Given the description of an element on the screen output the (x, y) to click on. 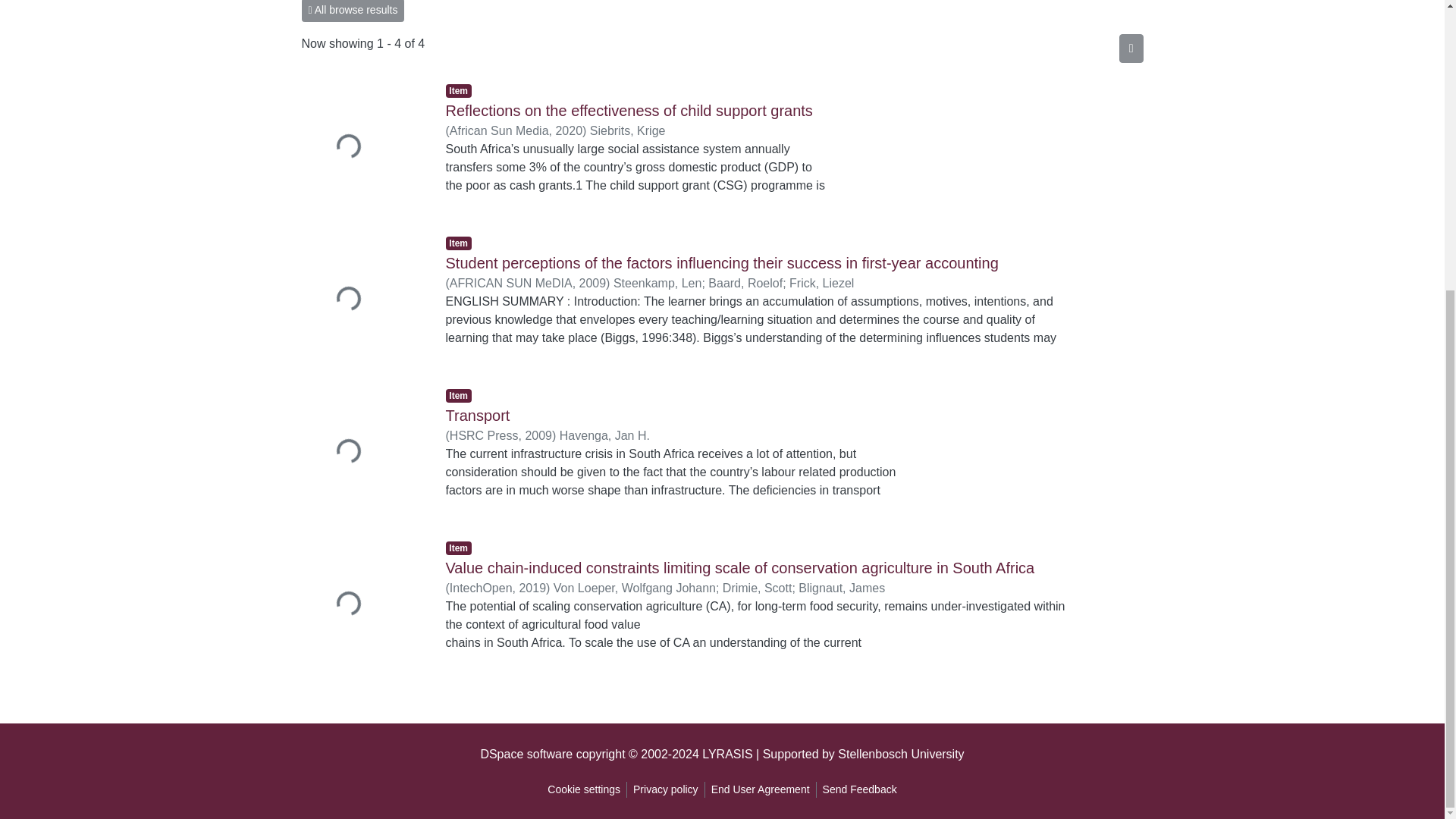
Pagination options (1130, 48)
All browse results (352, 11)
